Given the description of an element on the screen output the (x, y) to click on. 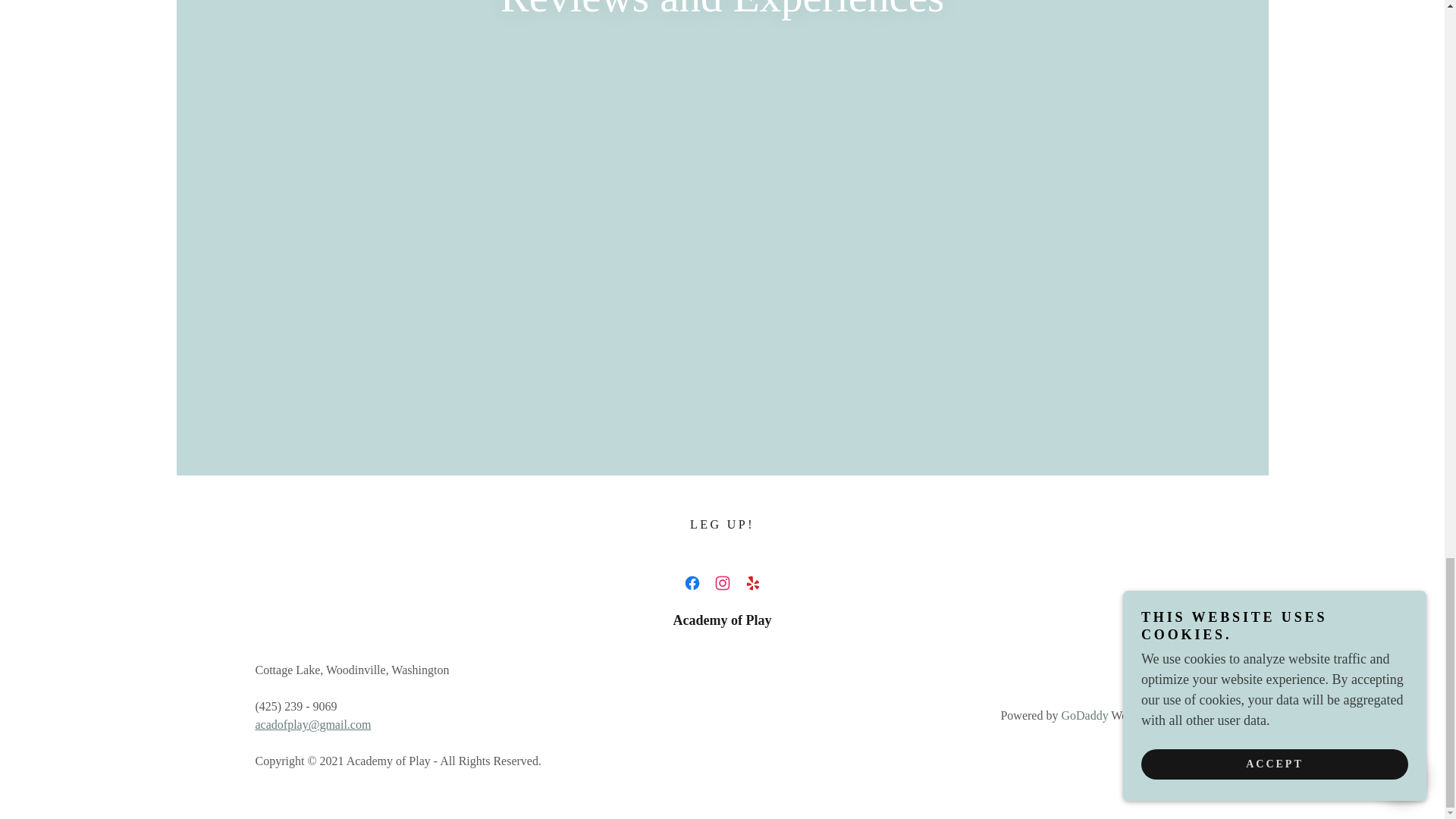
LEG UP! (722, 524)
GoDaddy (1084, 715)
